Given the description of an element on the screen output the (x, y) to click on. 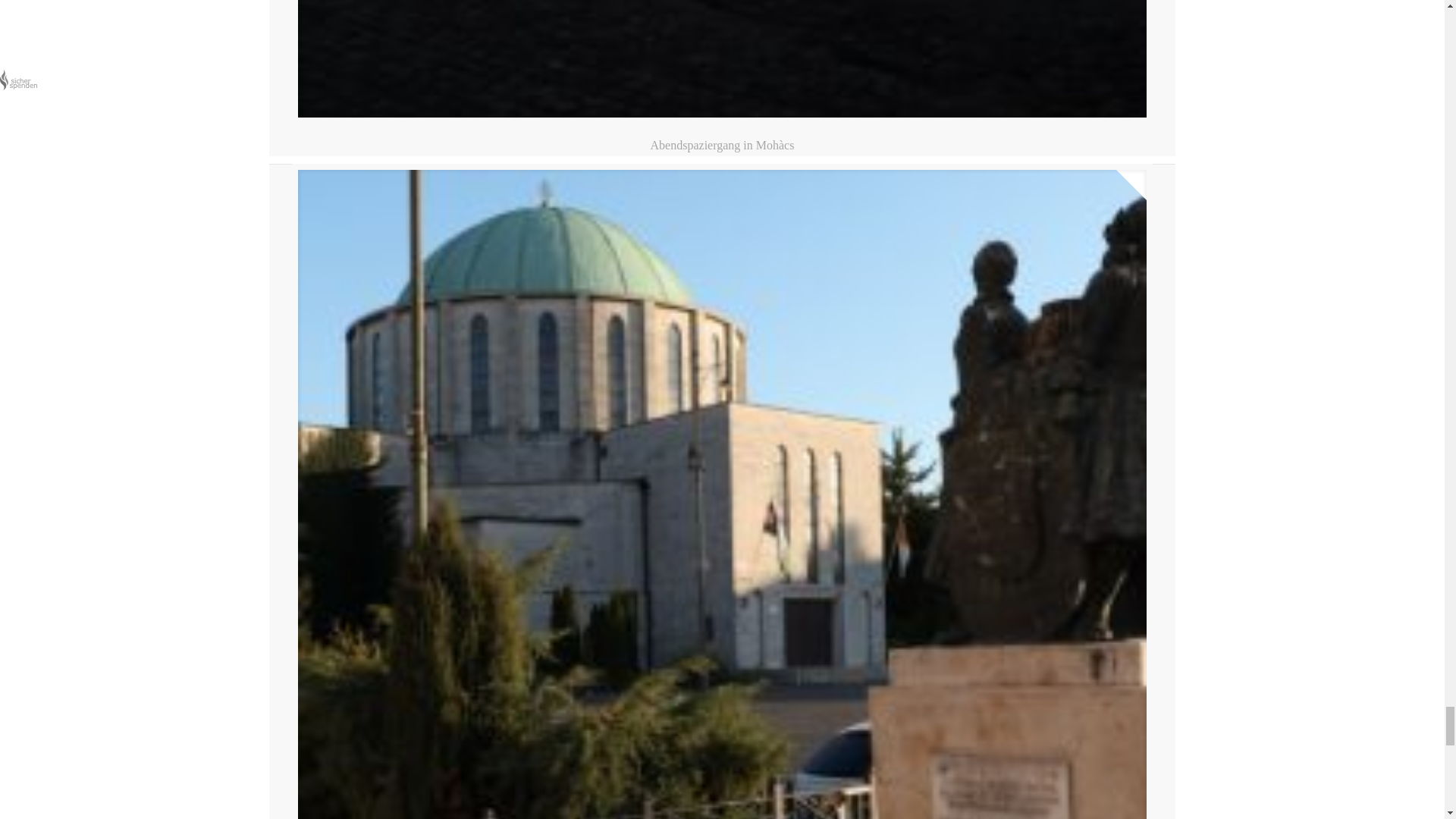
Sicher Spenden mit Altruja (18, 80)
